Given the description of an element on the screen output the (x, y) to click on. 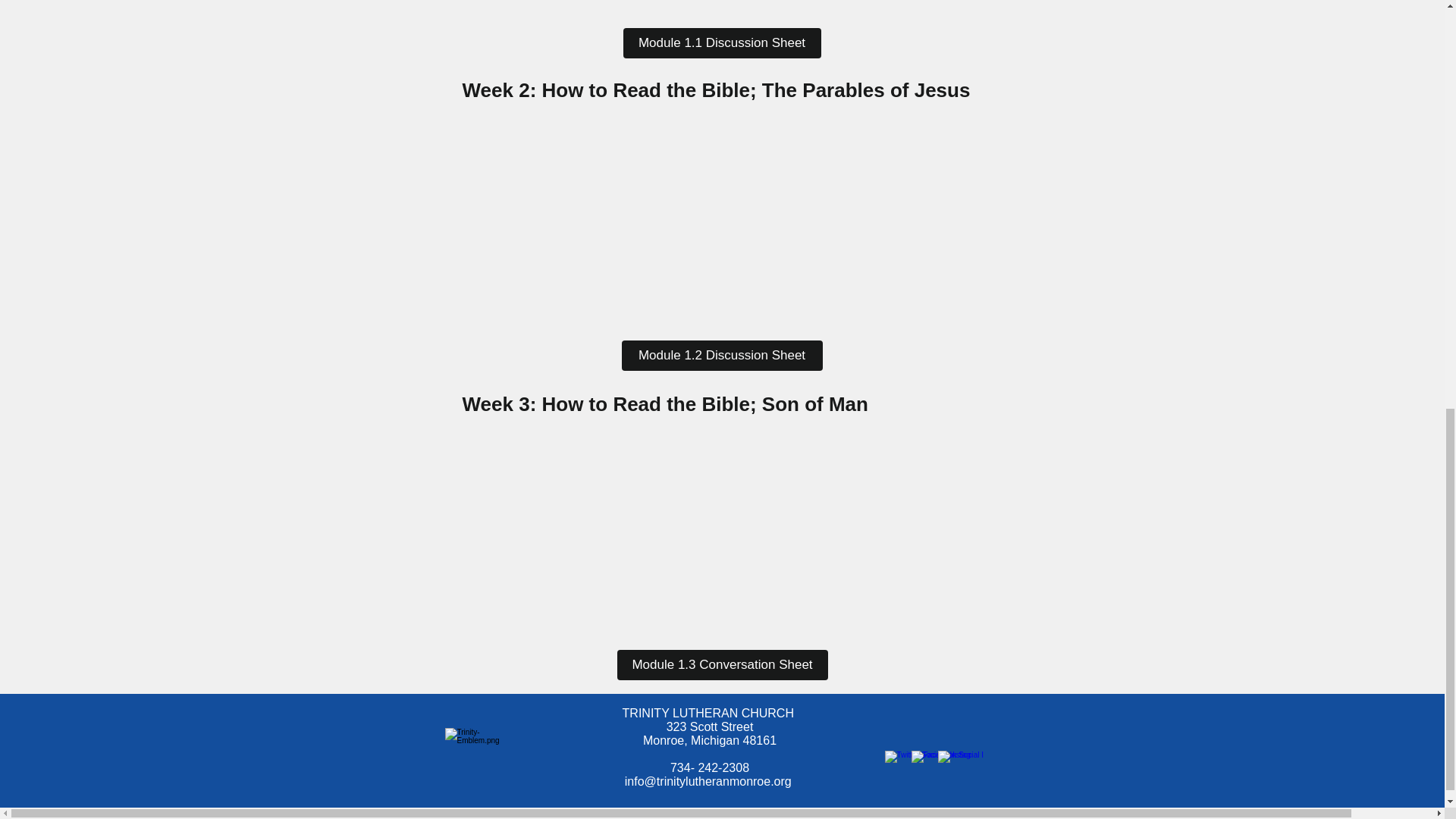
Module 1.3 Conversation Sheet (722, 665)
Module 1.1 Discussion Sheet (722, 42)
Module 1.2 Discussion Sheet (721, 355)
